Given the description of an element on the screen output the (x, y) to click on. 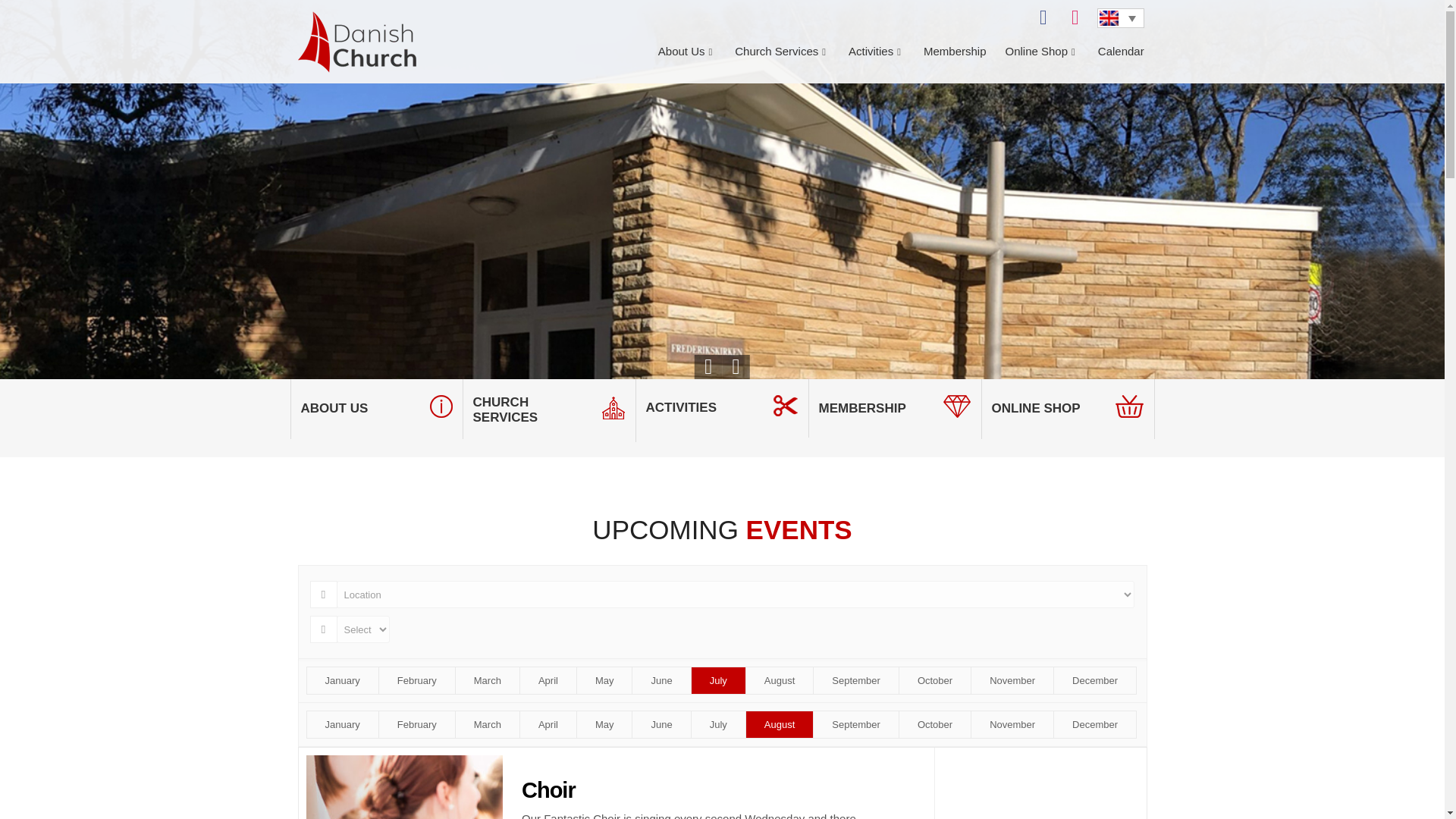
Membership (964, 51)
Activities (885, 51)
Online Shop (1051, 51)
Church Services (791, 51)
About Us (696, 51)
